Given the description of an element on the screen output the (x, y) to click on. 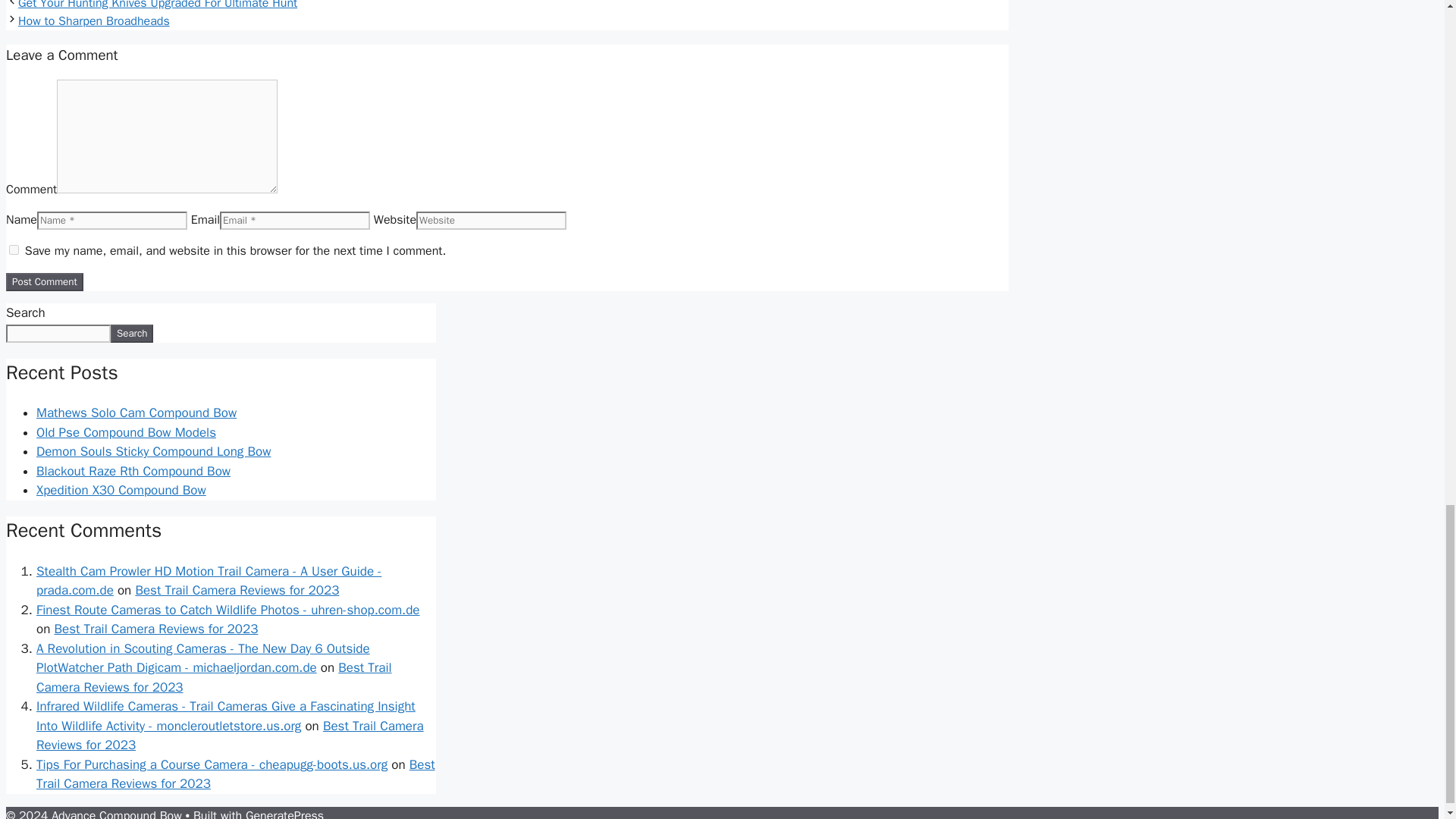
How to Sharpen Broadheads (93, 20)
Best Trail Camera Reviews for 2023 (237, 590)
Post Comment (43, 281)
Best Trail Camera Reviews for 2023 (235, 774)
Best Trail Camera Reviews for 2023 (229, 735)
Old Pse Compound Bow Models (125, 432)
Search (131, 333)
Tips For Purchasing a Course Camera - cheapugg-boots.us.org (211, 764)
Mathews Solo Cam Compound Bow (135, 412)
